Given the description of an element on the screen output the (x, y) to click on. 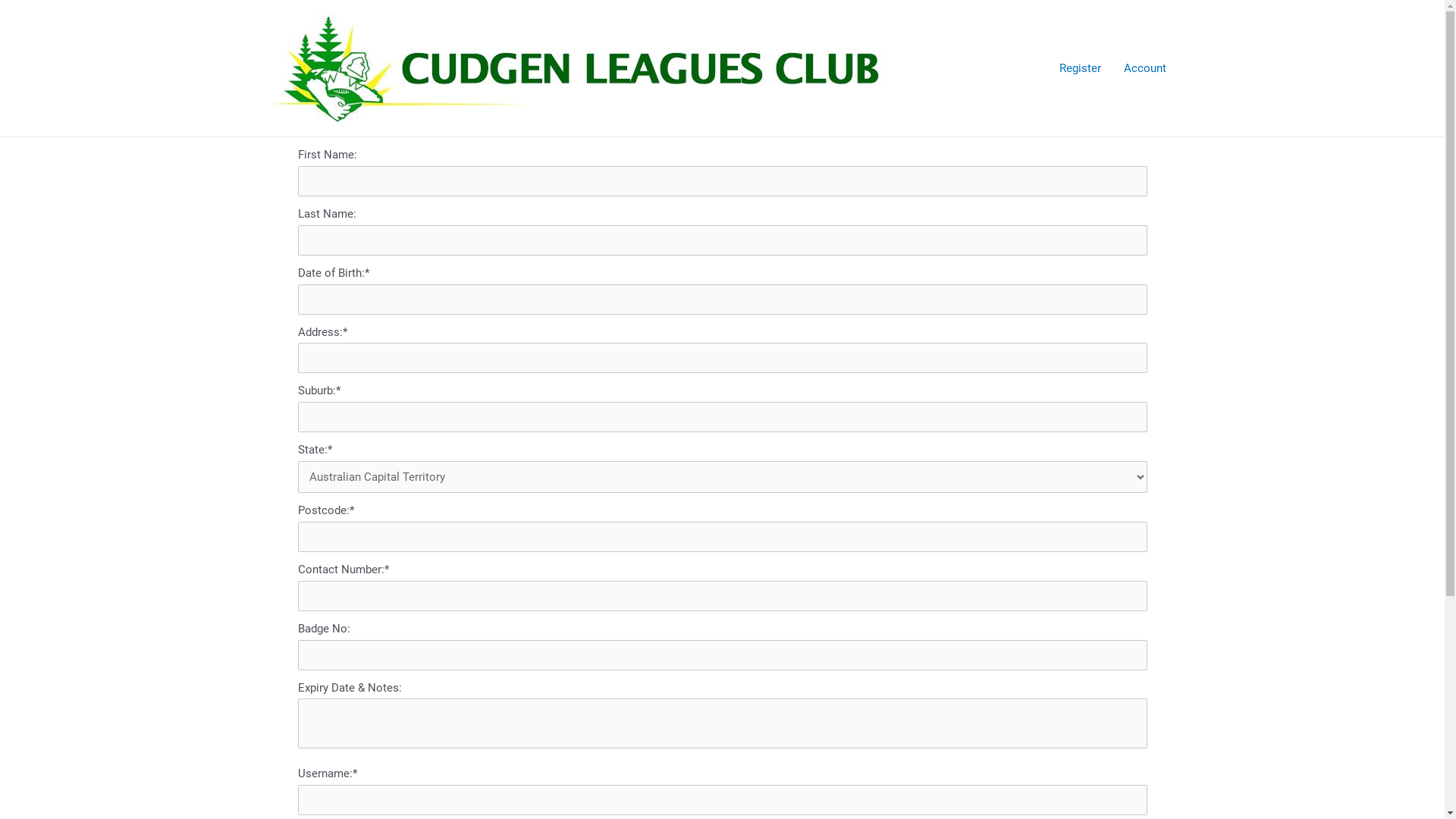
Register Element type: text (1080, 67)
Account Element type: text (1143, 67)
